Given the description of an element on the screen output the (x, y) to click on. 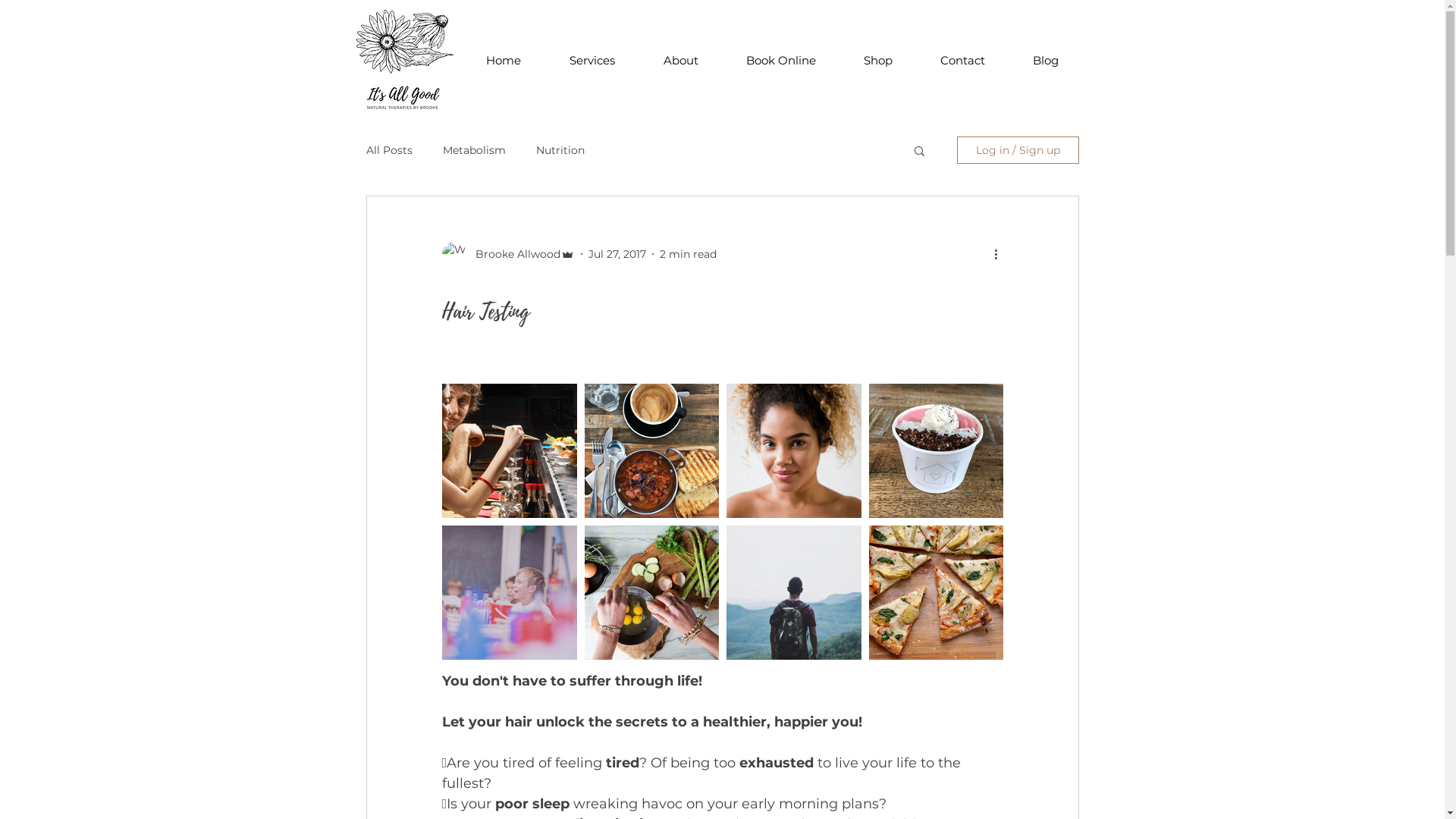
Home Element type: text (502, 60)
Nutrition Element type: text (559, 149)
Log in / Sign up Element type: text (1018, 149)
All Posts Element type: text (388, 149)
Services Element type: text (591, 60)
Book Online Element type: text (780, 60)
Blog Element type: text (1045, 60)
Metabolism Element type: text (473, 149)
About Element type: text (679, 60)
Contact Element type: text (962, 60)
Shop Element type: text (878, 60)
